Given the description of an element on the screen output the (x, y) to click on. 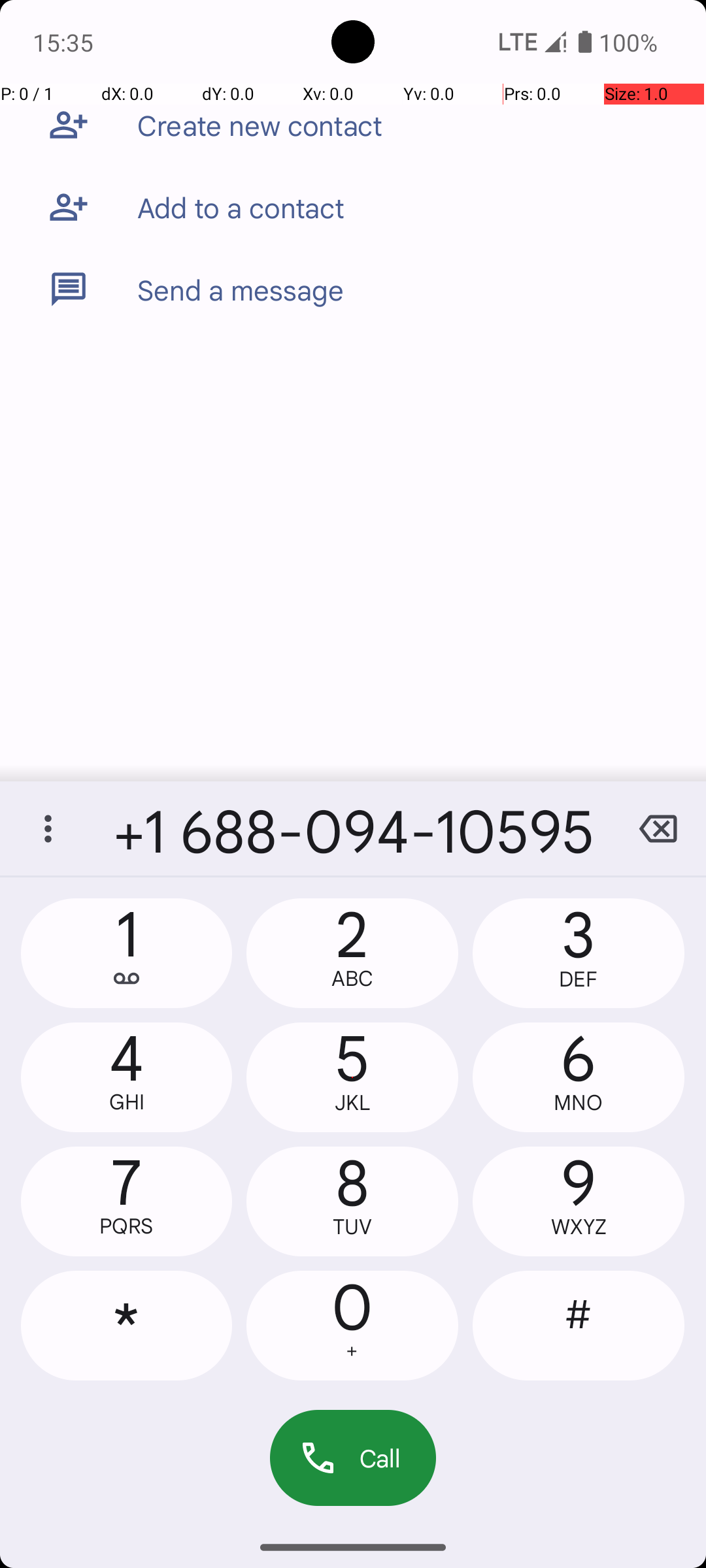
+1 688-094-10595 Element type: android.widget.EditText (352, 828)
